Given the description of an element on the screen output the (x, y) to click on. 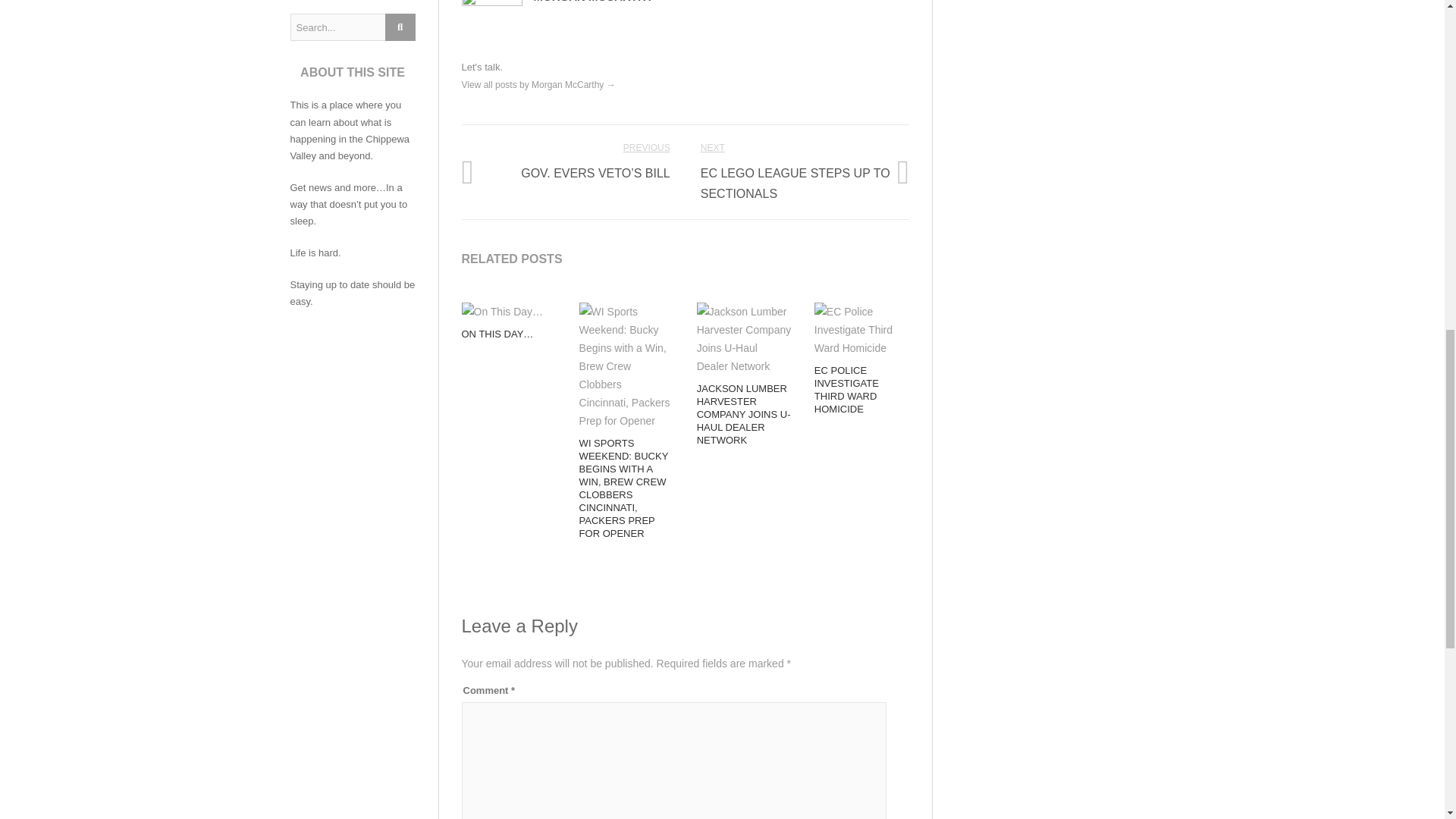
MORGAN MCCARTHY (593, 1)
EC POLICE INVESTIGATE THIRD WARD HOMICIDE (846, 389)
EC LEGO LEAGUE STEPS UP TO SECTIONALS (794, 183)
JACKSON LUMBER HARVESTER COMPANY JOINS U-HAUL DEALER NETWORK (743, 414)
